Given the description of an element on the screen output the (x, y) to click on. 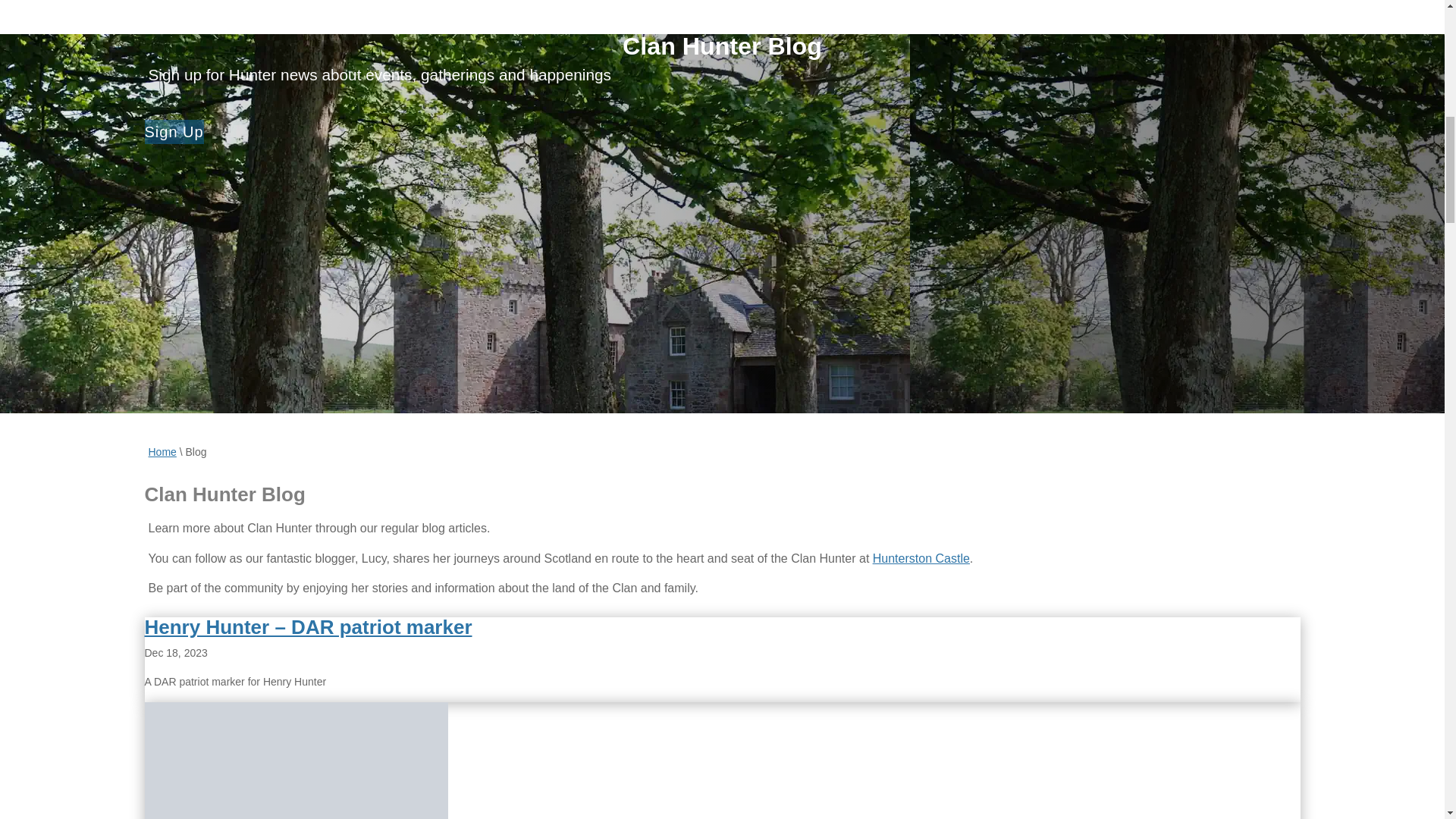
Hunterston Castle (920, 558)
Sign Up (173, 131)
Home (162, 451)
Link to Hunterston Castle (920, 558)
